Given the description of an element on the screen output the (x, y) to click on. 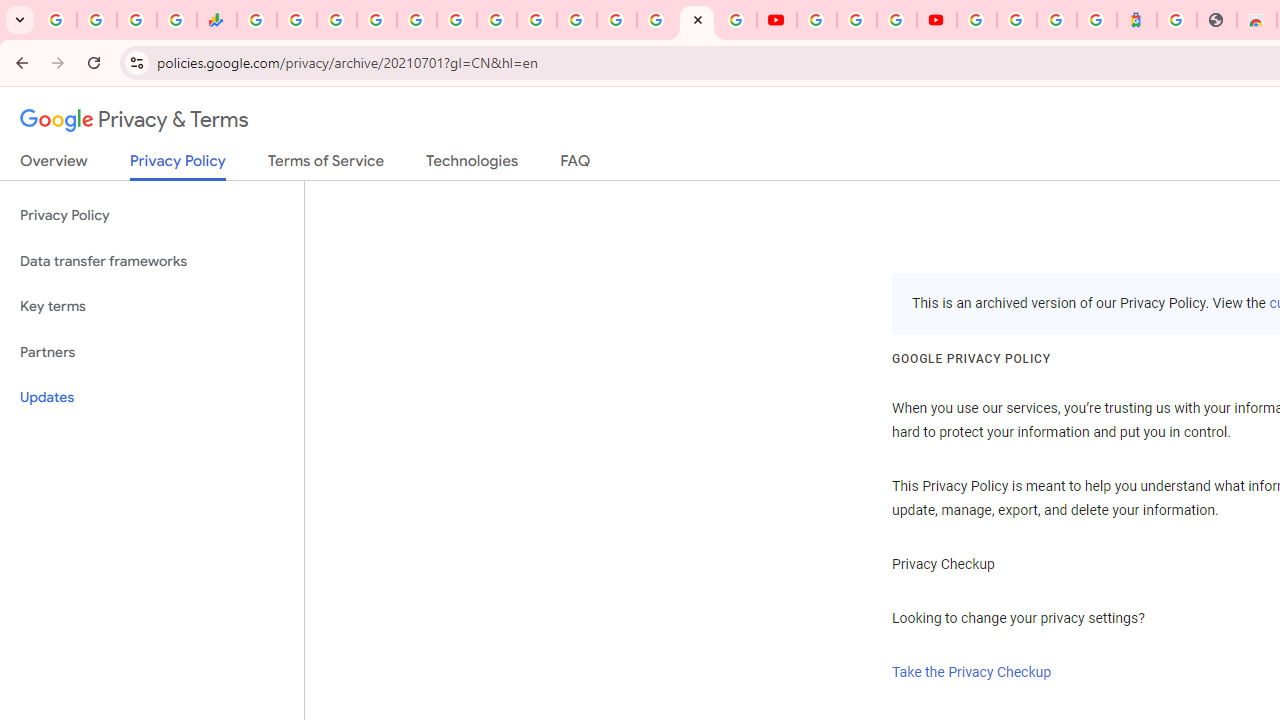
Sign in - Google Accounts (657, 20)
YouTube (776, 20)
Sign in - Google Accounts (576, 20)
Android TV Policies and Guidelines - Transparency Center (497, 20)
